Given the description of an element on the screen output the (x, y) to click on. 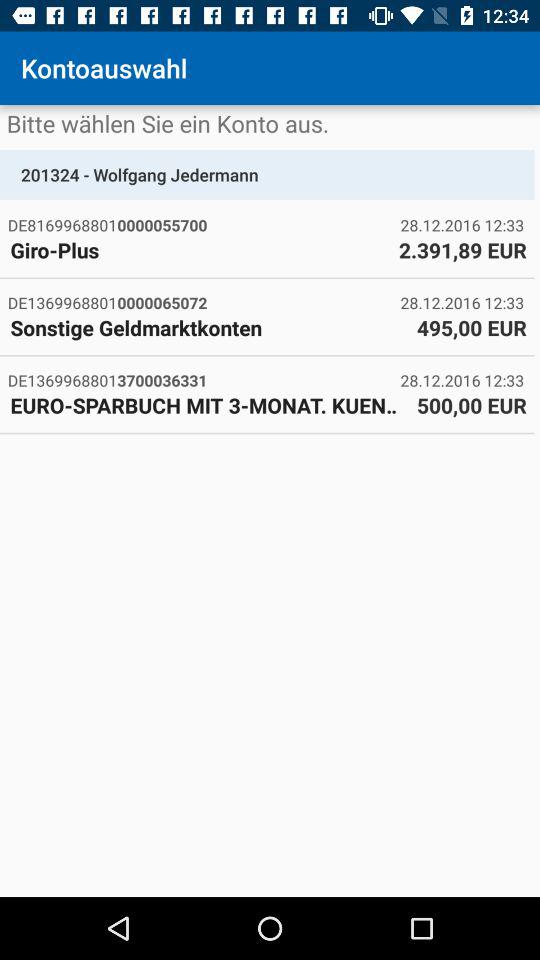
tap euro sparbuch mit item (208, 405)
